Given the description of an element on the screen output the (x, y) to click on. 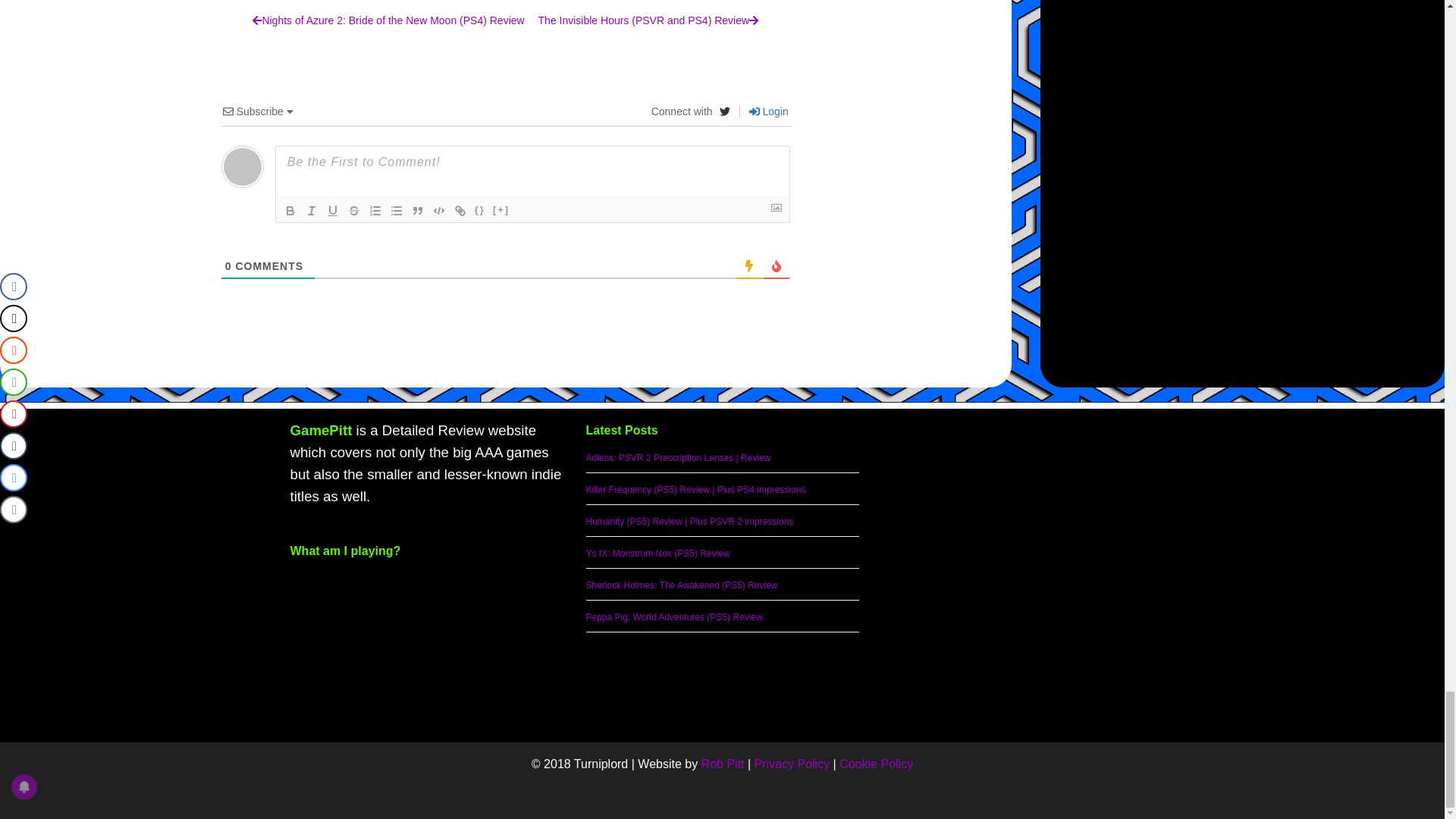
Bold (290, 210)
Italic (311, 210)
